Given the description of an element on the screen output the (x, y) to click on. 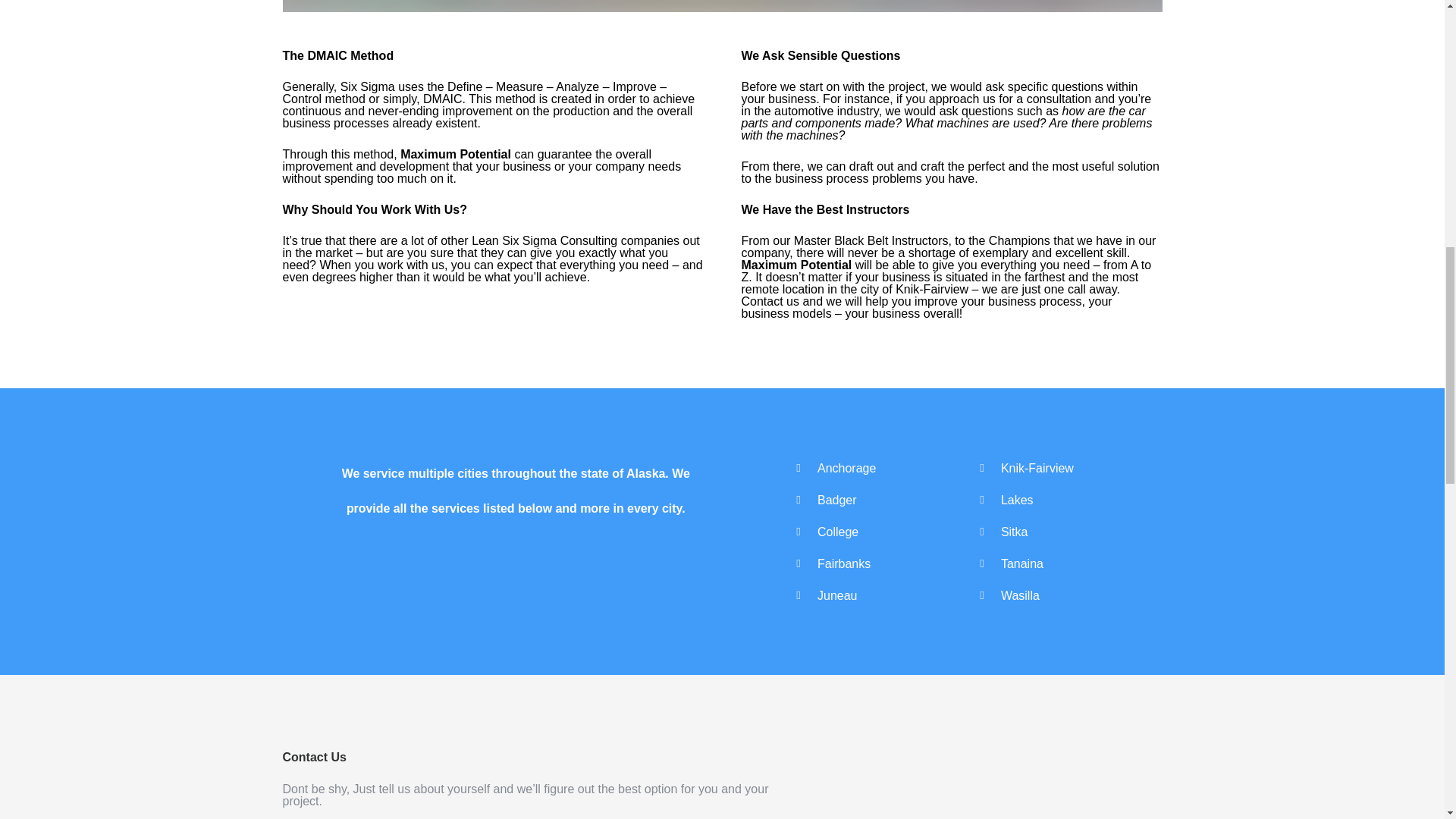
Tanaina (1022, 562)
Lakes (1017, 499)
Knik-Fairview (1037, 467)
Sitka (1014, 530)
College (837, 530)
Anchorage (846, 467)
Fairbanks (843, 562)
Badger (836, 499)
Wasilla (1020, 594)
Juneau (836, 594)
